Given the description of an element on the screen output the (x, y) to click on. 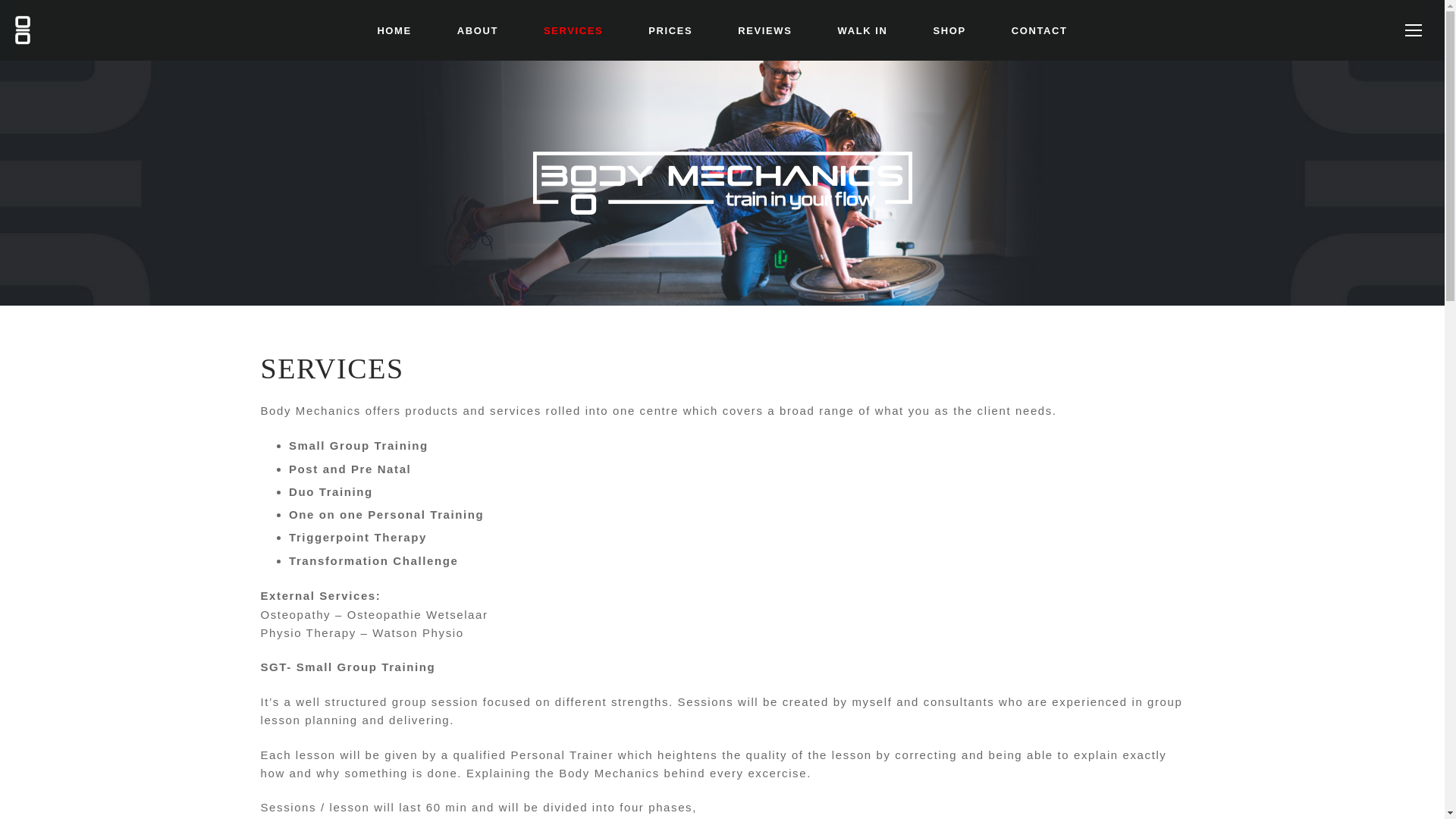
PRICES (670, 30)
SERVICES (573, 30)
WALK IN (861, 30)
body-mechanics-svg (721, 182)
HOME (393, 30)
SHOP (949, 30)
ABOUT (477, 30)
CONTACT (1039, 30)
REVIEWS (763, 30)
